Given the description of an element on the screen output the (x, y) to click on. 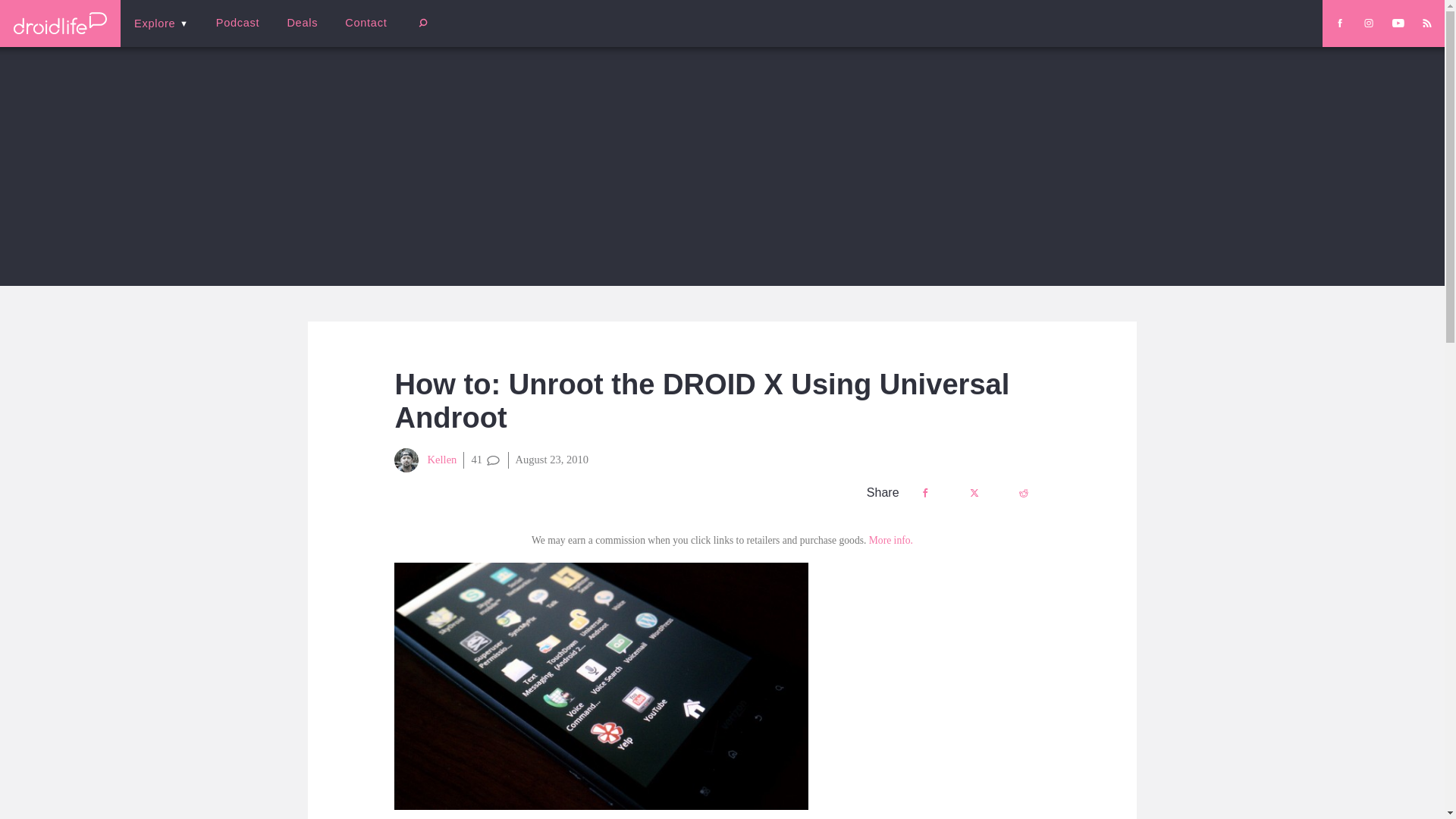
Droid Life RSS (1426, 23)
Explore (161, 23)
Droid Life on Instagram (1368, 23)
Droid Life on YouTube (1398, 23)
Podcast (237, 23)
Kellen (425, 459)
Contact (365, 23)
droidx root (601, 686)
Droid Life on Facebook (1339, 23)
Deals (302, 23)
